Given the description of an element on the screen output the (x, y) to click on. 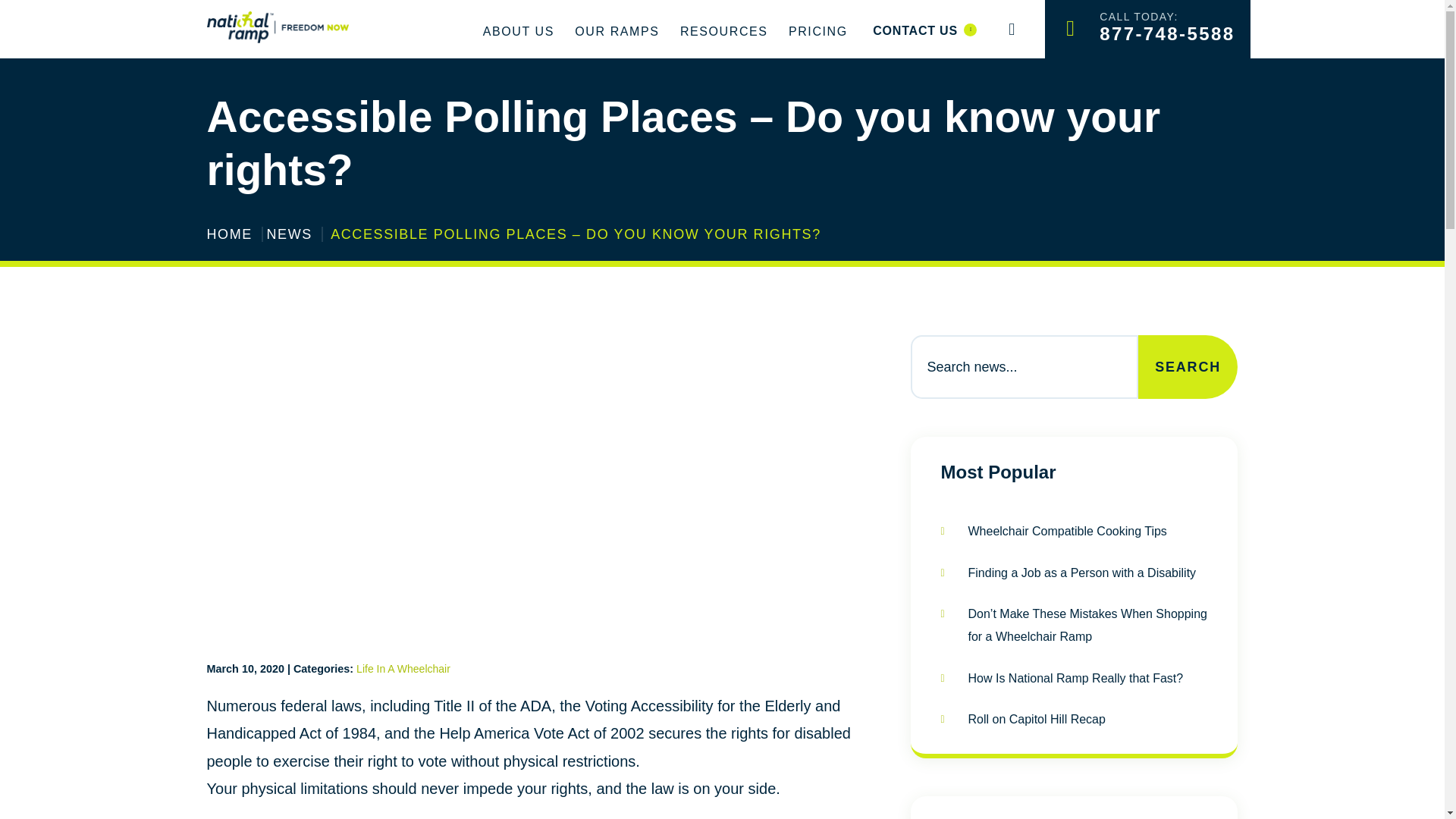
OUR RAMPS (617, 31)
RESOURCES (1147, 29)
CONTACT US (723, 31)
ABOUT US (924, 30)
